Given the description of an element on the screen output the (x, y) to click on. 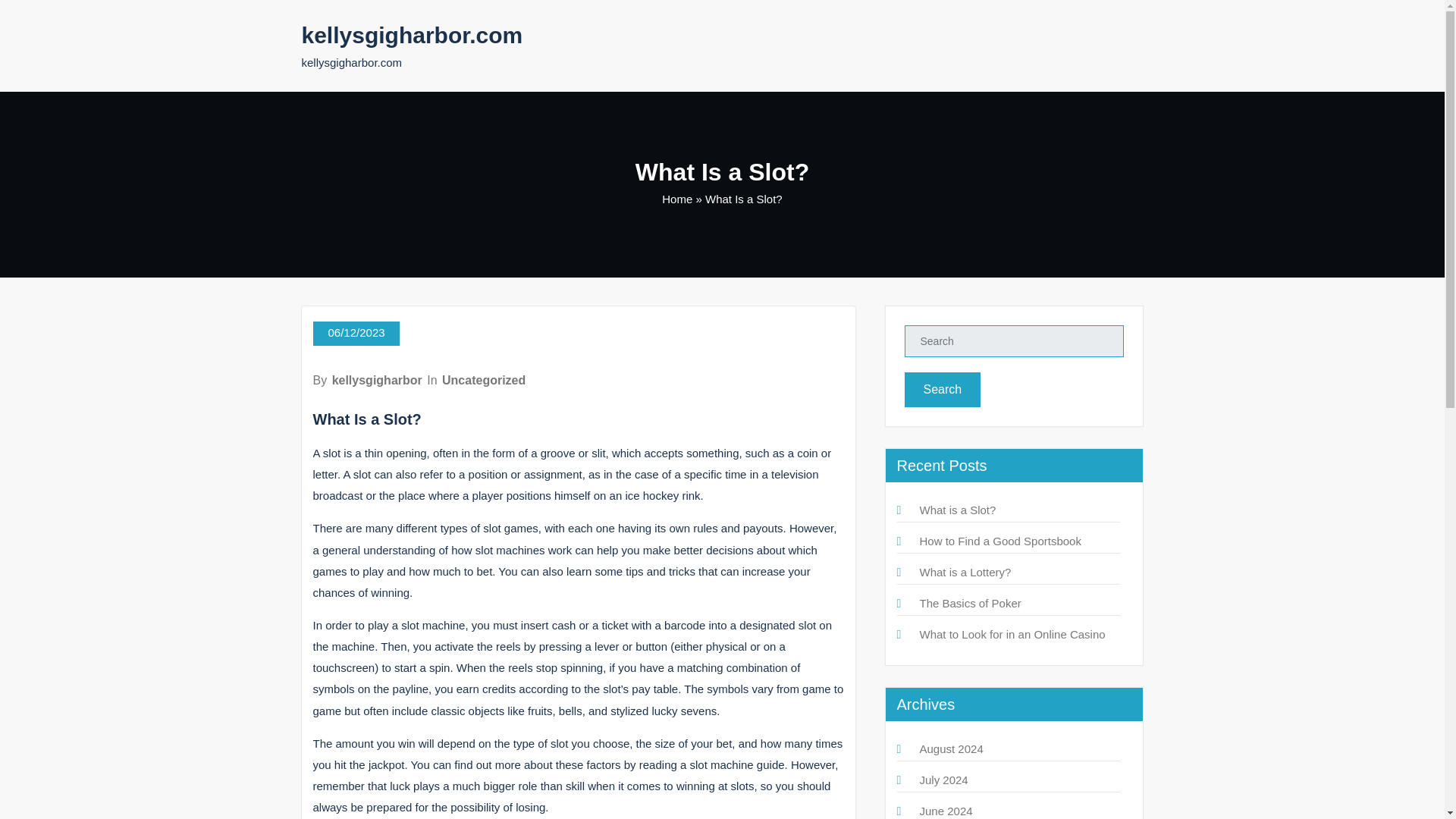
Search (941, 389)
Home (677, 198)
June 2024 (945, 810)
July 2024 (943, 779)
The Basics of Poker (969, 603)
What is a Lottery? (964, 571)
What is a Slot? (956, 509)
What to Look for in an Online Casino (1011, 634)
kellysgigharbor.com (411, 34)
August 2024 (950, 748)
